Given the description of an element on the screen output the (x, y) to click on. 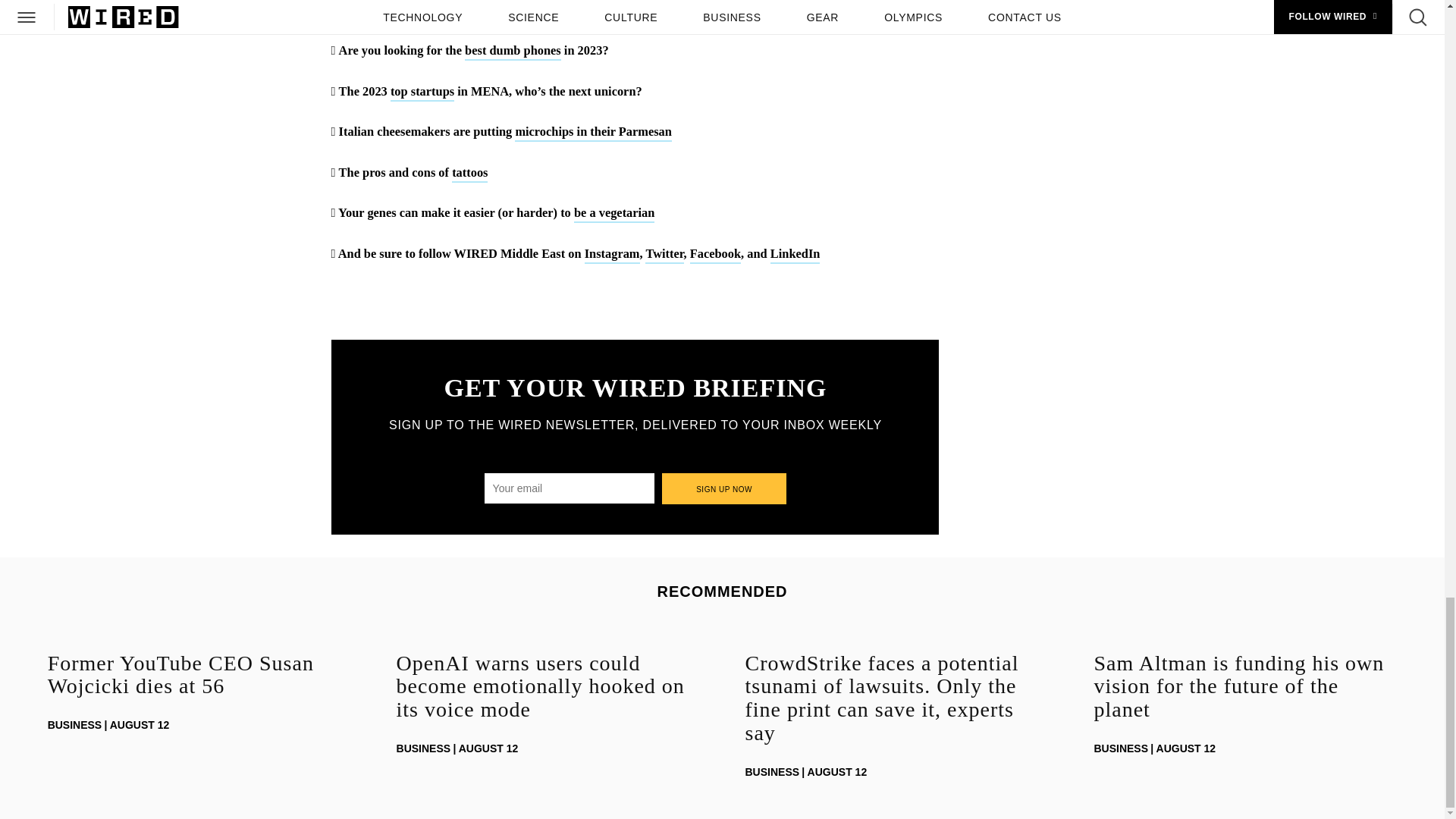
Instagram (612, 254)
Former YouTube CEO Susan Wojcicki dies at 56 (199, 675)
tattoos (469, 173)
Facebook (715, 254)
LinkedIn (795, 254)
Sign up now (724, 488)
be a vegetarian (614, 213)
Sign up now (724, 488)
best dumb phones (512, 51)
microchips in their Parmesan (593, 132)
